Given the description of an element on the screen output the (x, y) to click on. 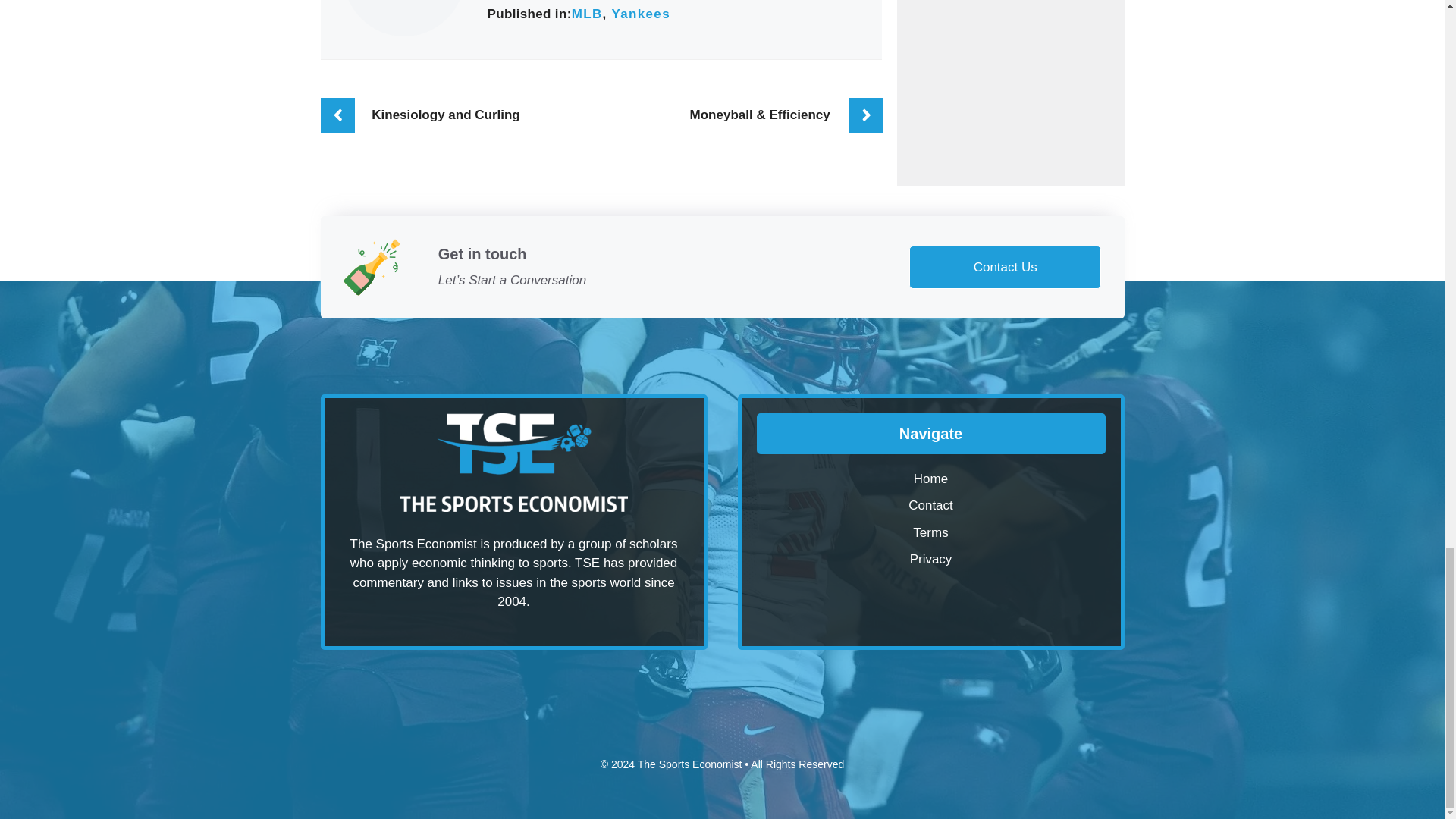
thesportseconomist Logo (513, 462)
MLB (587, 13)
Yankees (640, 13)
